Given the description of an element on the screen output the (x, y) to click on. 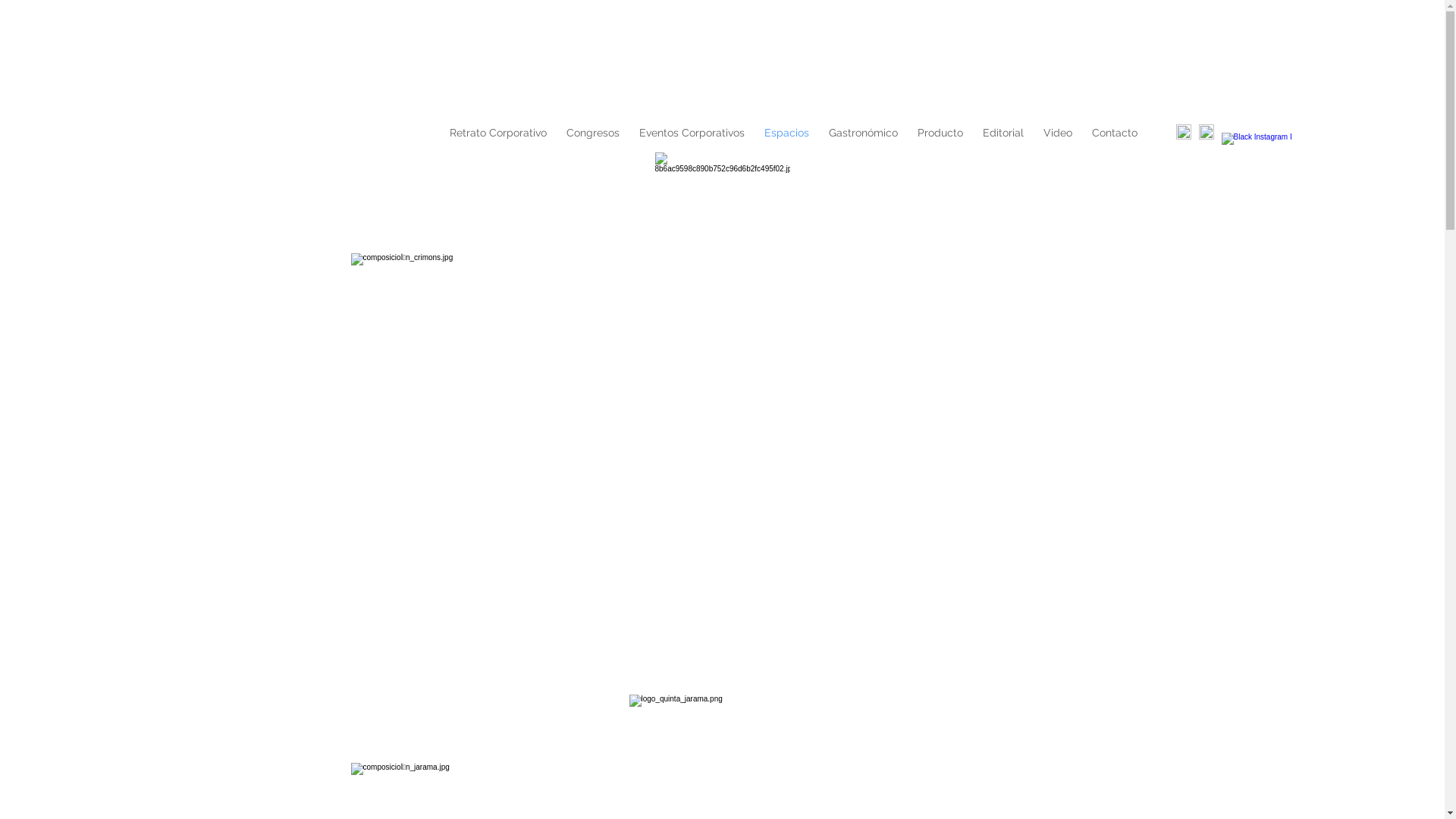
Editorial Element type: text (1002, 132)
Video Element type: text (1056, 132)
Producto Element type: text (939, 132)
Congresos Element type: text (592, 132)
Retrato Corporativo Element type: text (497, 132)
Contacto Element type: text (1113, 132)
Espacios Element type: text (785, 132)
Eventos Corporativos Element type: text (691, 132)
